Given the description of an element on the screen output the (x, y) to click on. 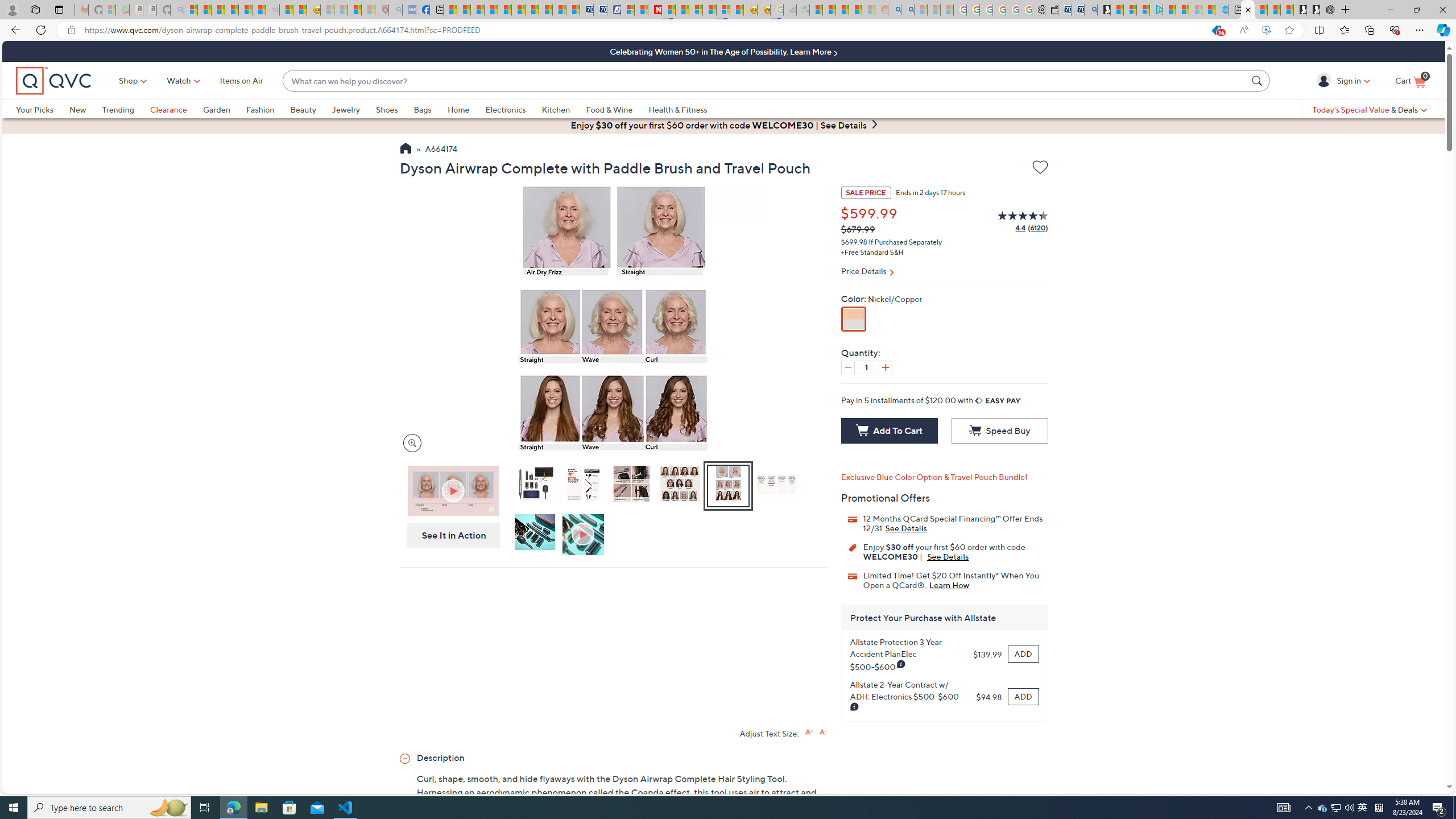
Jewelry (353, 109)
Pay in 5 installments of $120.00 with Easy Pay (931, 399)
Climate Damage Becomes Too Severe To Reverse (490, 9)
Student Loan Update: Forgiveness Program Ends This Month (855, 9)
12 Months QCard Special Financing Offer Ends 12/31 (906, 527)
Kitchen (555, 109)
Items on Air (241, 80)
On-Air Presentation (453, 490)
See It in Action (449, 534)
